Given the description of an element on the screen output the (x, y) to click on. 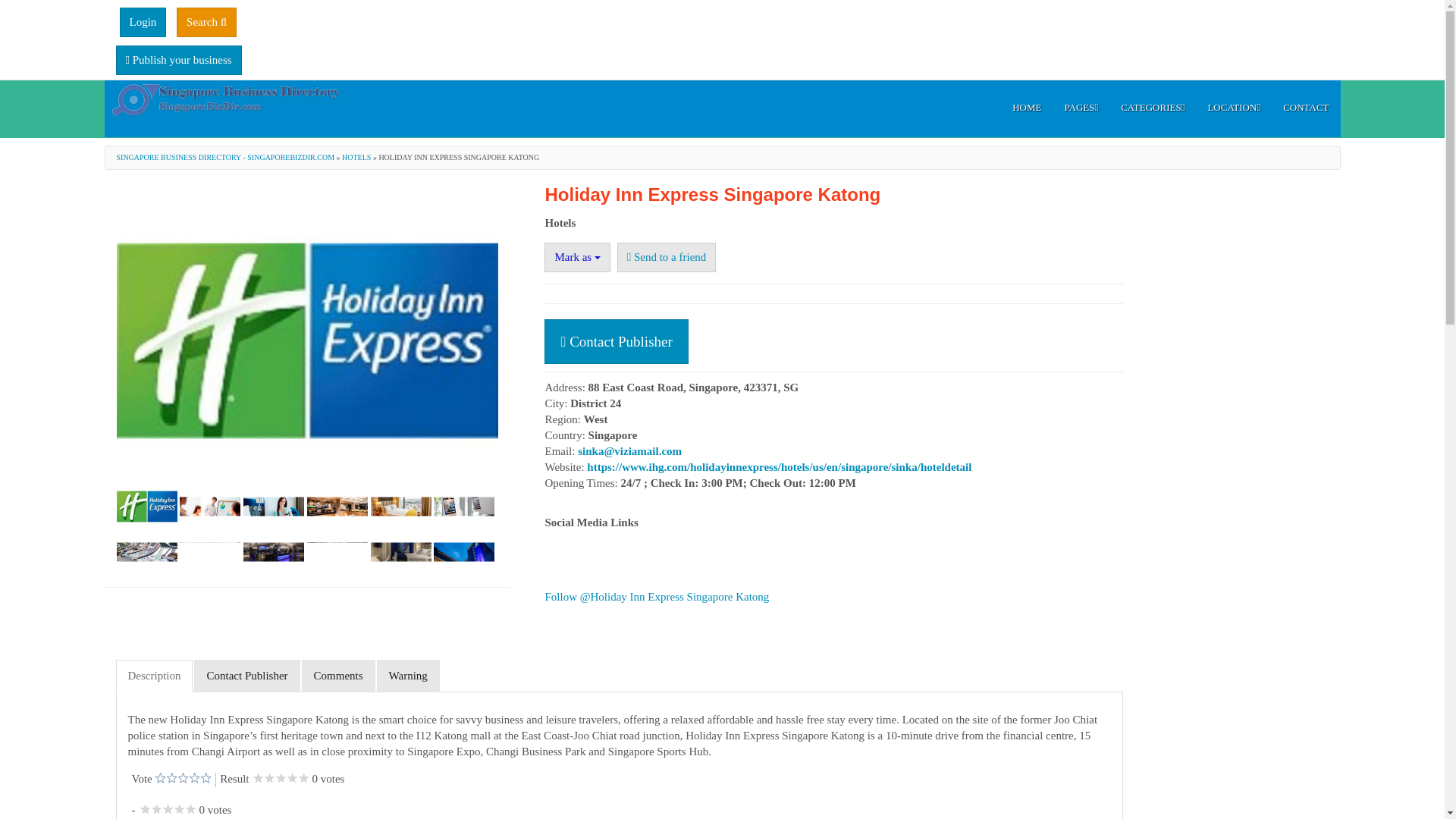
Holiday Inn Express Singapore Katong (337, 551)
Holiday Inn Express Singapore Katong (464, 551)
Very interesting (177, 778)
Holiday Inn Express Singapore Katong (209, 506)
CATEGORIES (1152, 108)
Holiday Inn Express Singapore Katong (399, 506)
Holiday Inn Express Singapore Katong (209, 551)
Singapore Business Directory - SingaporeBizDir.com (225, 92)
Holiday Inn Express Singapore Katong (464, 506)
Search (205, 21)
